Given the description of an element on the screen output the (x, y) to click on. 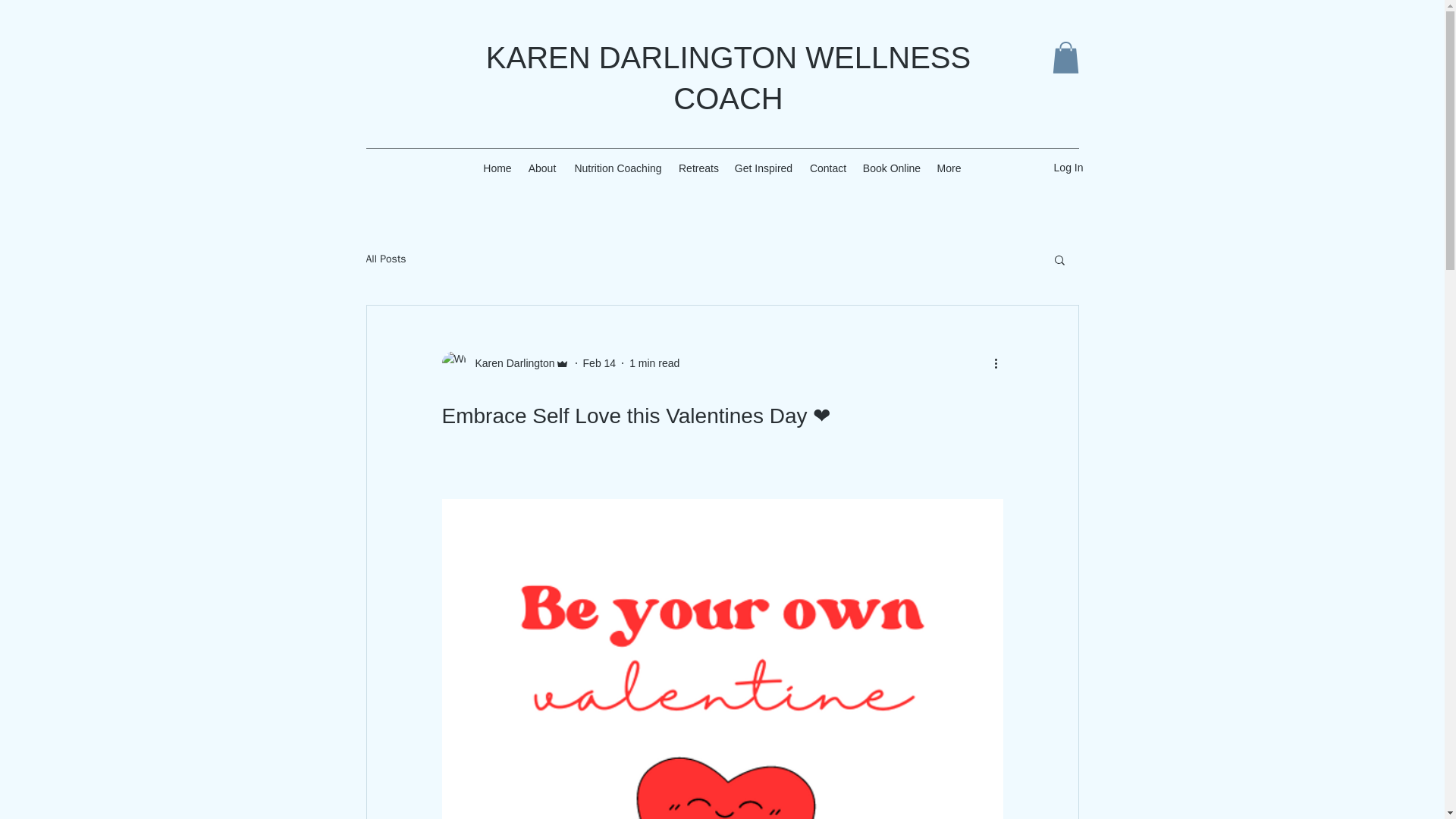
Nutrition Coaching (617, 168)
Home (497, 168)
About (541, 168)
Book Online (891, 168)
Get Inspired (763, 168)
Karen Darlington (505, 363)
Karen Darlington (509, 362)
KAREN DARLINGTON WELLNESS COACH (728, 77)
Retreats (698, 168)
1 min read (653, 362)
